Given the description of an element on the screen output the (x, y) to click on. 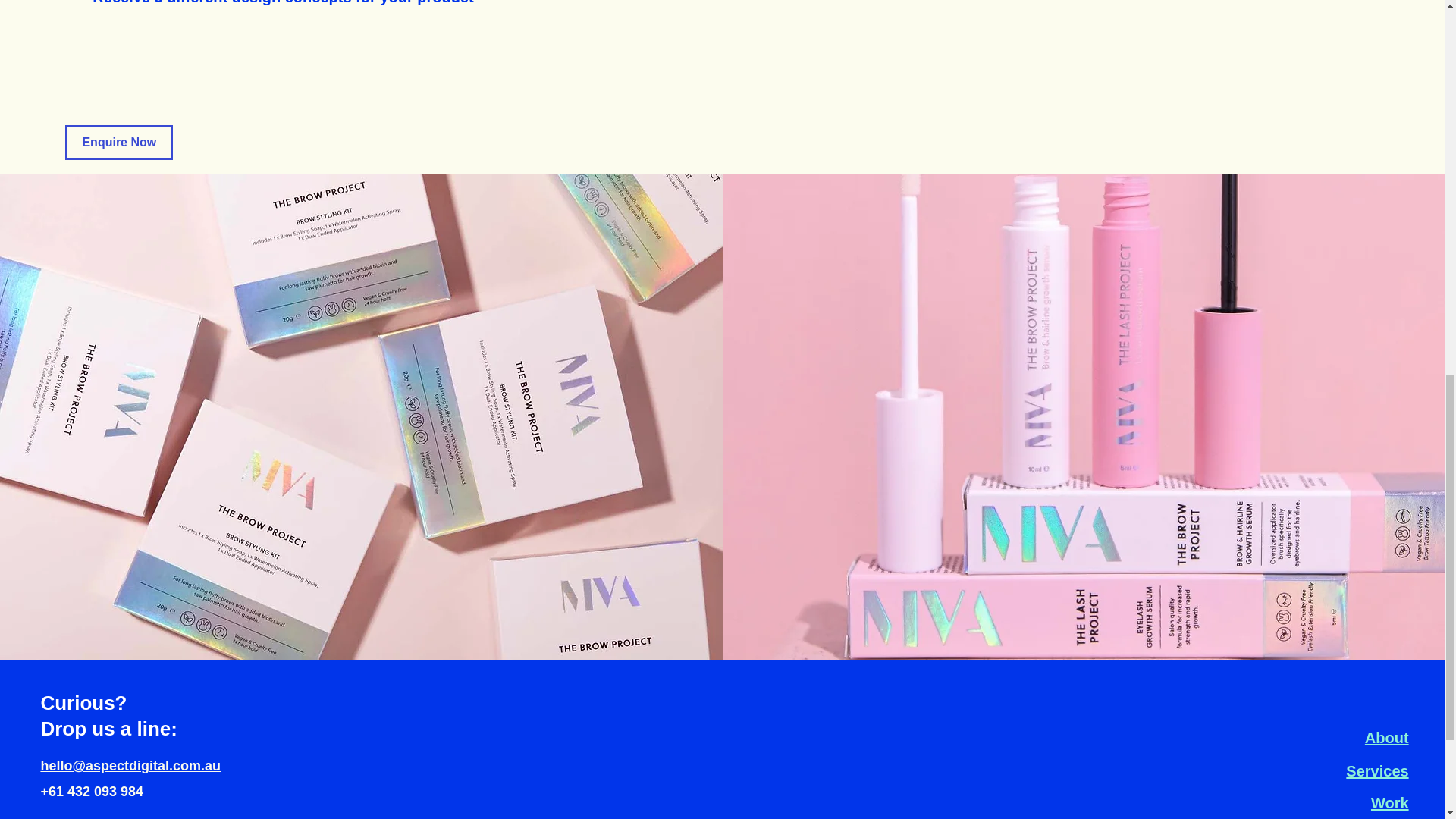
About (1387, 737)
Work (1390, 802)
Services (1376, 770)
Enquire Now (119, 142)
